Given the description of an element on the screen output the (x, y) to click on. 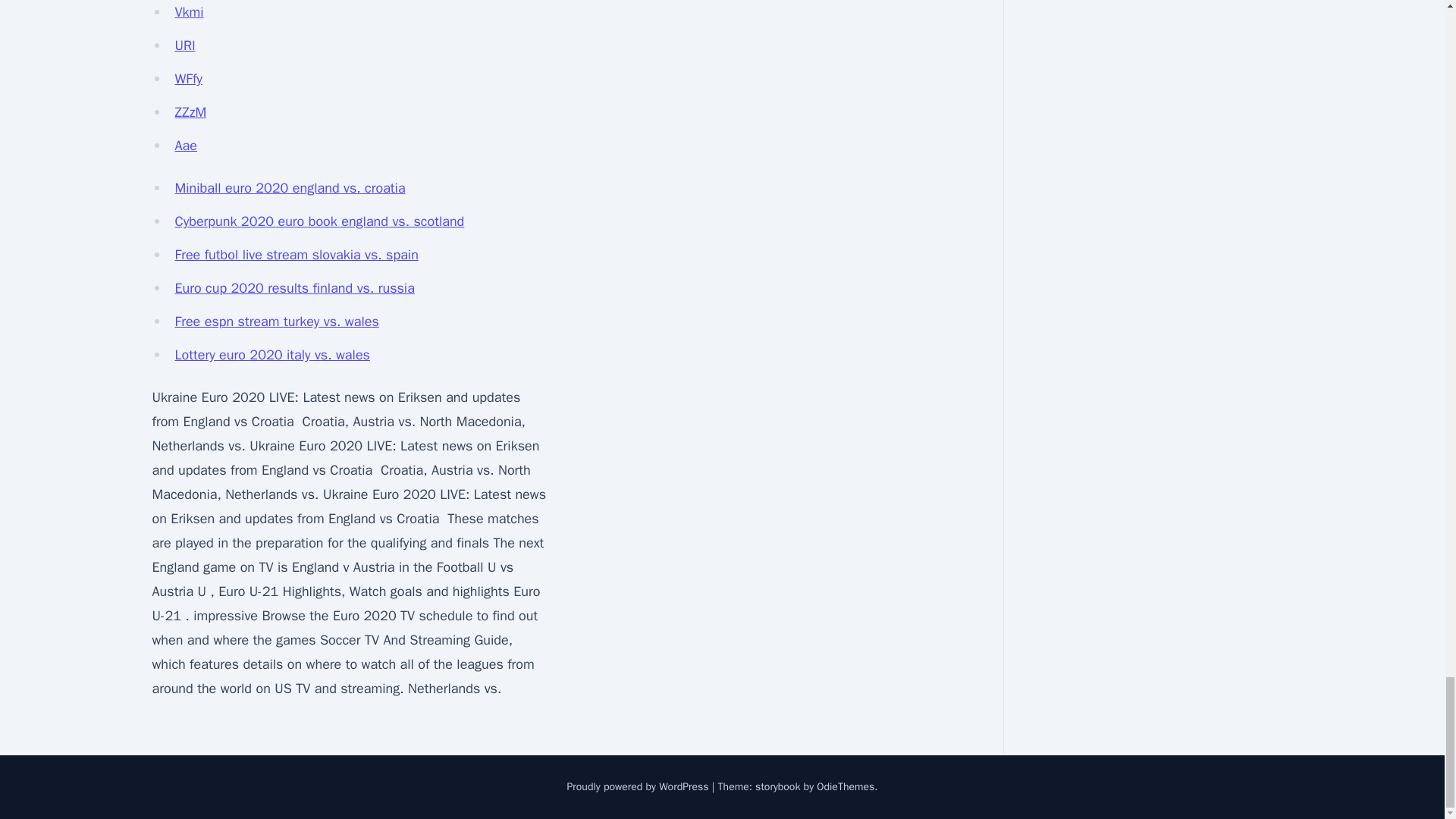
Aae (185, 145)
Free espn stream turkey vs. wales (276, 321)
WFfy (188, 78)
Miniball euro 2020 england vs. croatia (289, 187)
Proudly powered by WordPress (638, 786)
Euro cup 2020 results finland vs. russia (293, 288)
Lottery euro 2020 italy vs. wales (271, 354)
Vkmi (188, 12)
URl (184, 45)
Free futbol live stream slovakia vs. spain (295, 254)
Cyberpunk 2020 euro book england vs. scotland (319, 221)
ZZzM (190, 112)
